Given the description of an element on the screen output the (x, y) to click on. 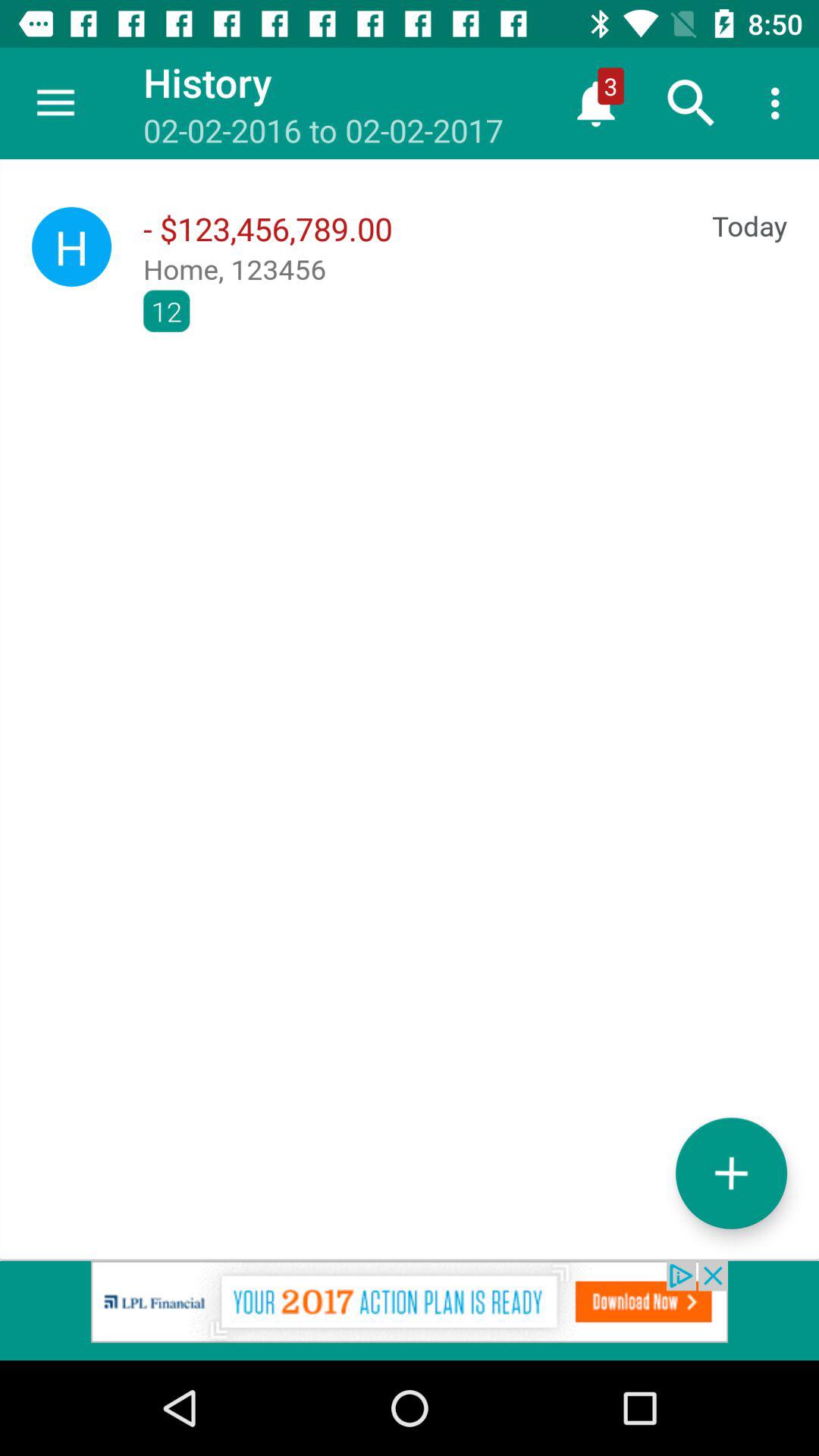
click on  button at bottom right corner (731, 1173)
click on the bell icon shown left to search icon (596, 102)
click on the search icon positioned right to bell icon at the top of the page (691, 103)
